Given the description of an element on the screen output the (x, y) to click on. 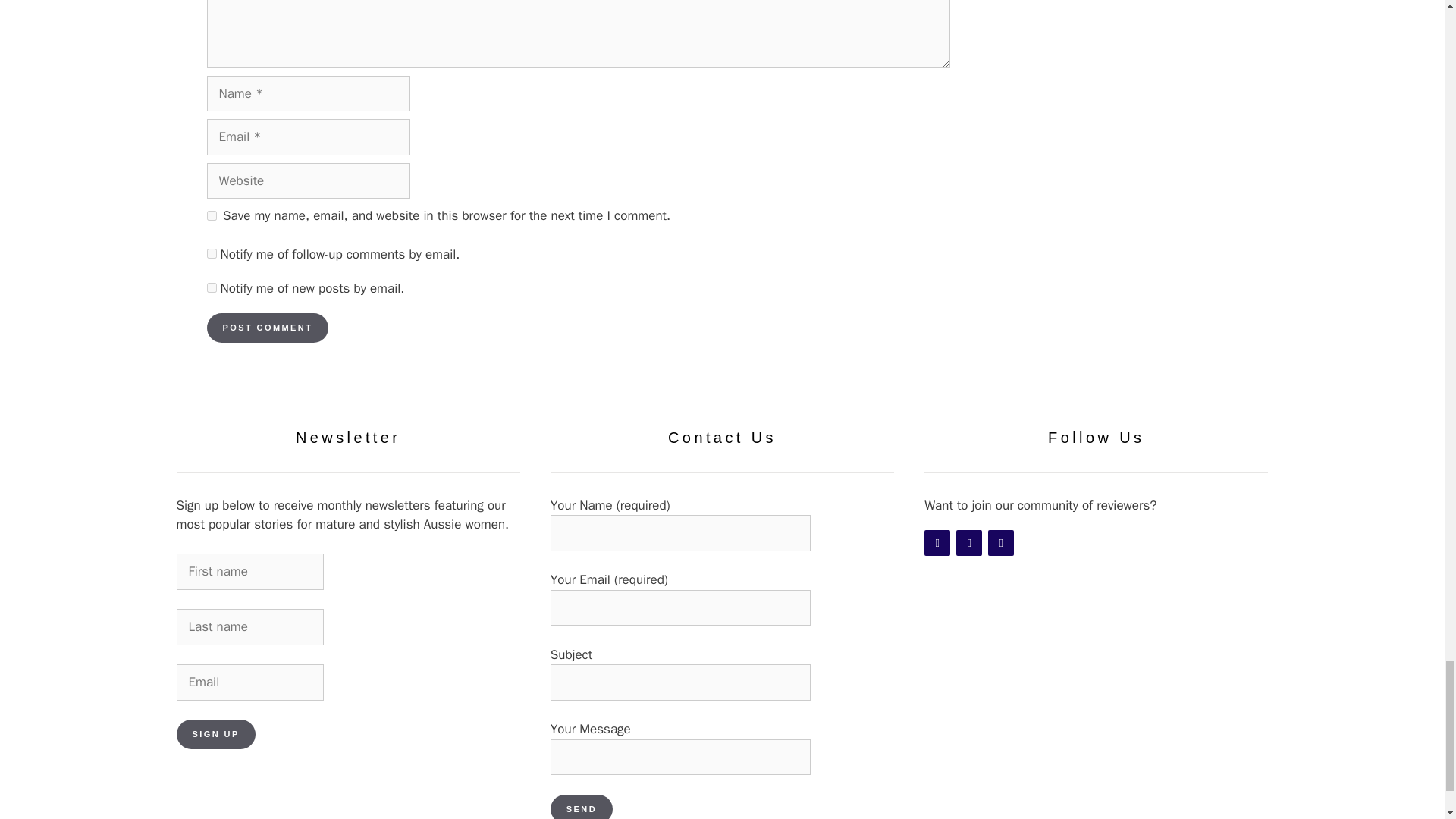
subscribe (210, 287)
Facebook (937, 542)
Sign up (215, 734)
Post Comment (267, 327)
yes (210, 215)
Pinterest (1000, 542)
subscribe (210, 253)
Post Comment (267, 327)
Instagram (968, 542)
